Given the description of an element on the screen output the (x, y) to click on. 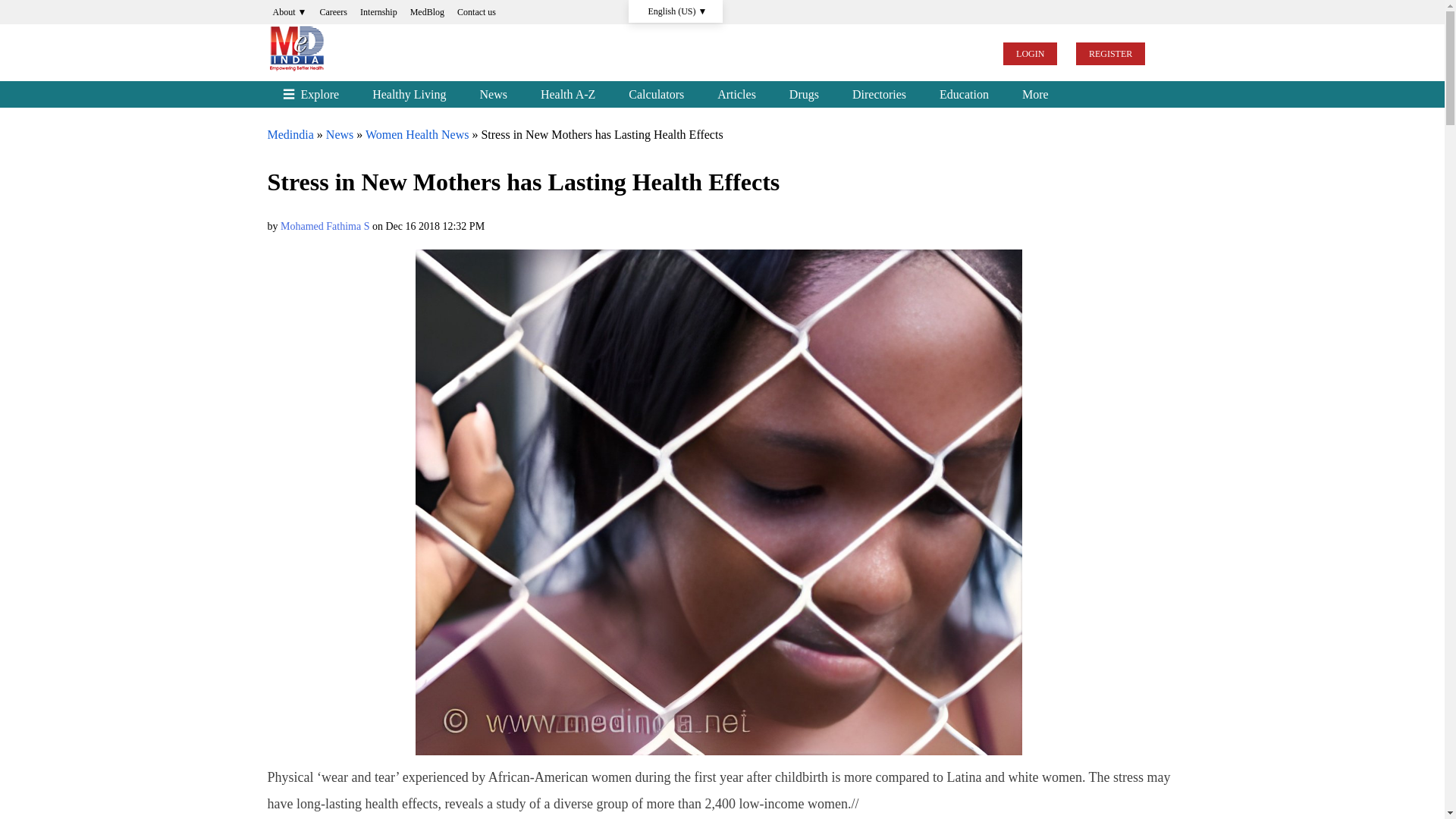
Contact us (475, 11)
Directories (879, 93)
Careers (333, 11)
LOGIN (1030, 53)
News (339, 133)
Mohamed Fathima S (325, 225)
Women Health News (416, 133)
MedBlog (426, 11)
